Given the description of an element on the screen output the (x, y) to click on. 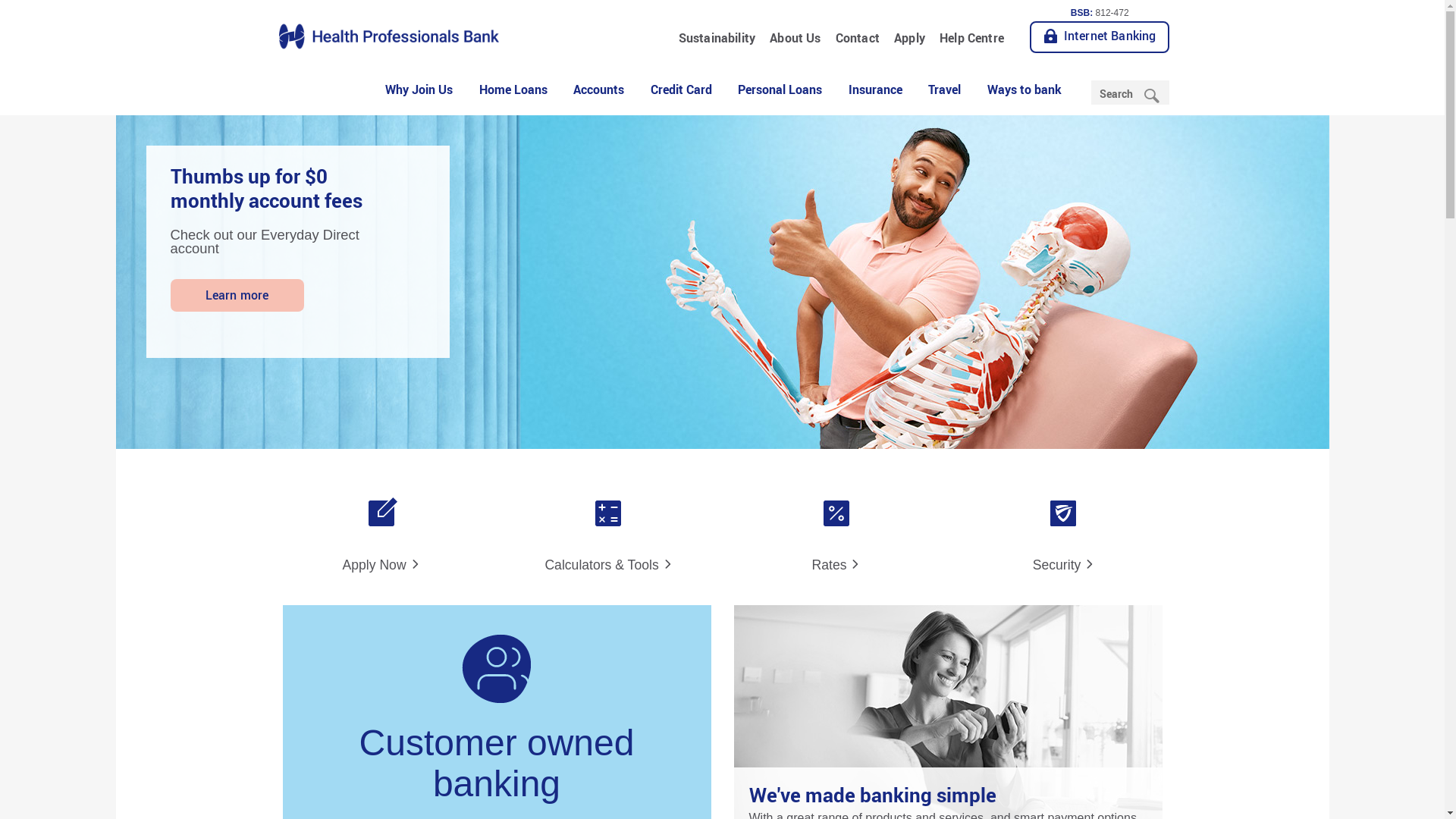
Skip to content Element type: text (721, 1)
Calculators & Tools Element type: text (607, 526)
Travel Element type: text (944, 90)
Credit Card Element type: text (681, 90)
Rates Element type: text (836, 526)
Learn more Element type: text (236, 295)
Apply Element type: text (908, 37)
Contact Element type: text (857, 37)
Apply Now Element type: text (381, 526)
Insurance Element type: text (875, 90)
About Us Element type: text (795, 37)
Why Join Us Element type: text (418, 90)
Sustainability Element type: text (716, 37)
Accounts Element type: text (598, 90)
Personal Loans Element type: text (779, 90)
Help Centre Element type: text (970, 37)
Security Element type: text (1063, 526)
Home Loans Element type: text (512, 90)
Ways to bank Element type: text (1023, 90)
Internet Banking Element type: text (1099, 37)
